Given the description of an element on the screen output the (x, y) to click on. 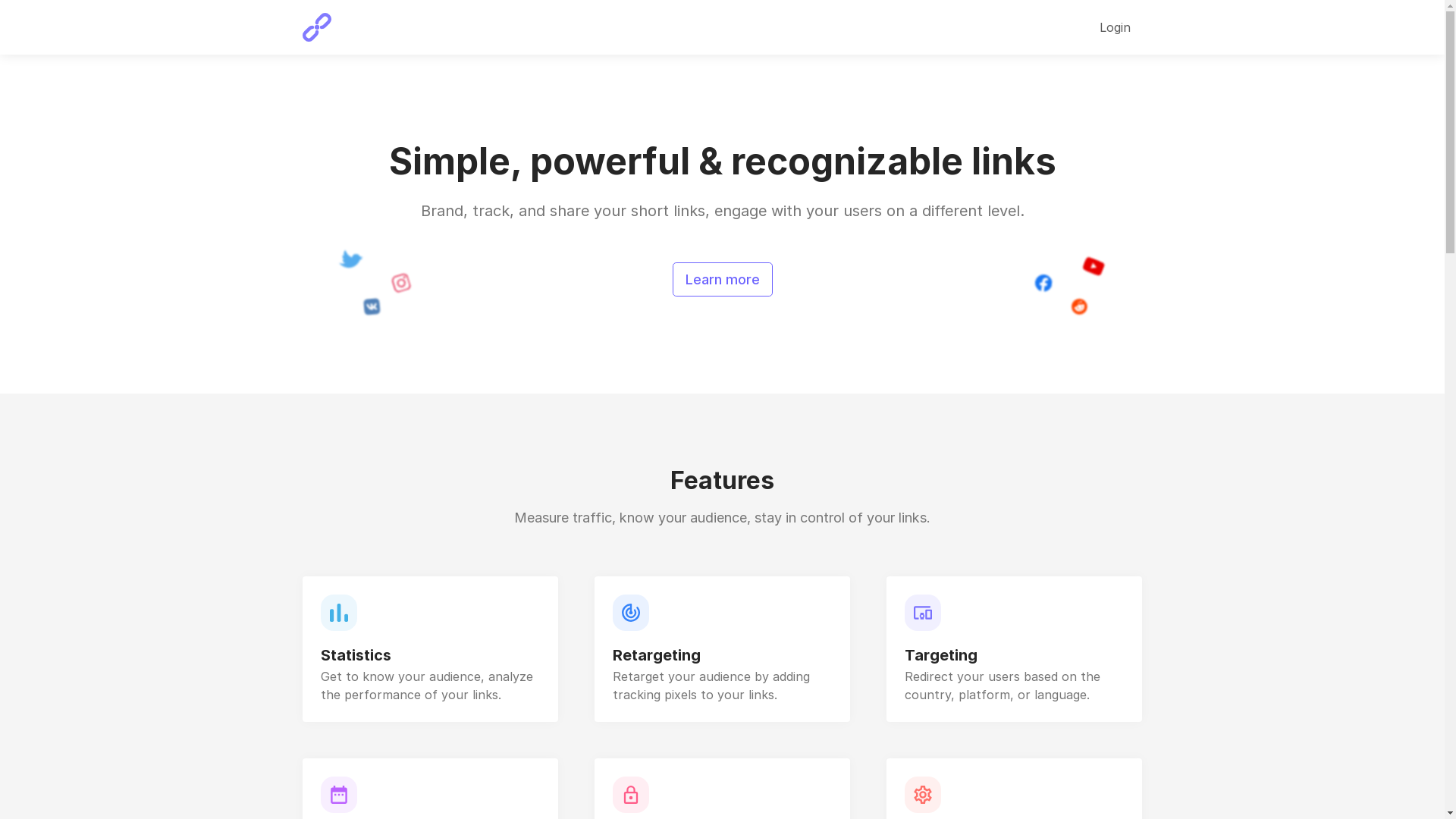
Login Element type: text (1114, 27)
Learn more Element type: text (721, 279)
